Given the description of an element on the screen output the (x, y) to click on. 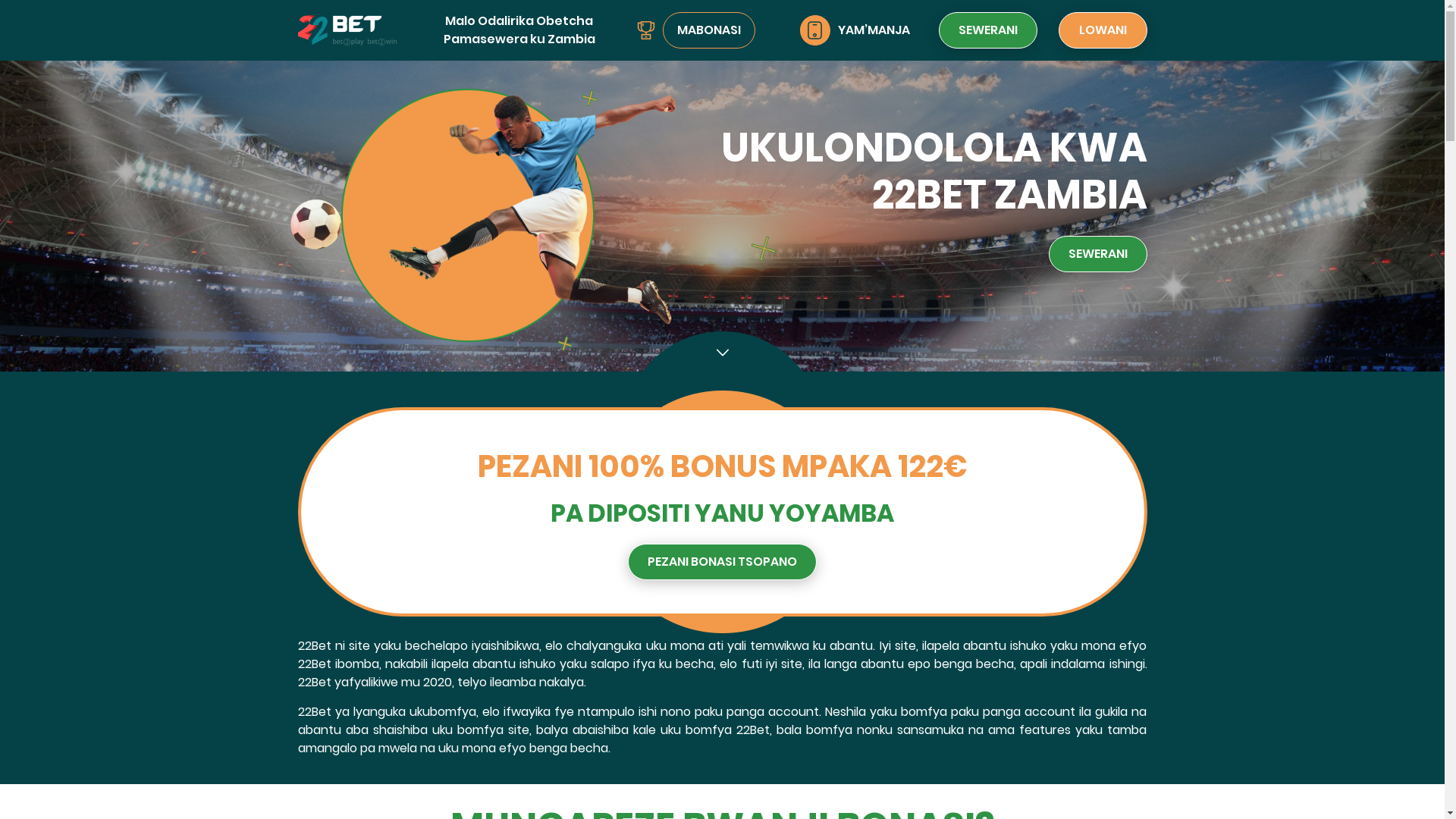
Yam'manja Element type: hover (815, 30)
PEZANI BONASI TSOPANO Element type: text (721, 561)
Mabonasi Element type: hover (646, 30)
SEWERANI Element type: text (987, 30)
LOWANI Element type: text (1102, 30)
22Bet Zambia Element type: hover (532, 220)
22Bet Zambia Element type: hover (346, 30)
MABONASI Element type: text (708, 30)
SEWERANI Element type: text (1097, 253)
22Bet Element type: hover (722, 215)
